Given the description of an element on the screen output the (x, y) to click on. 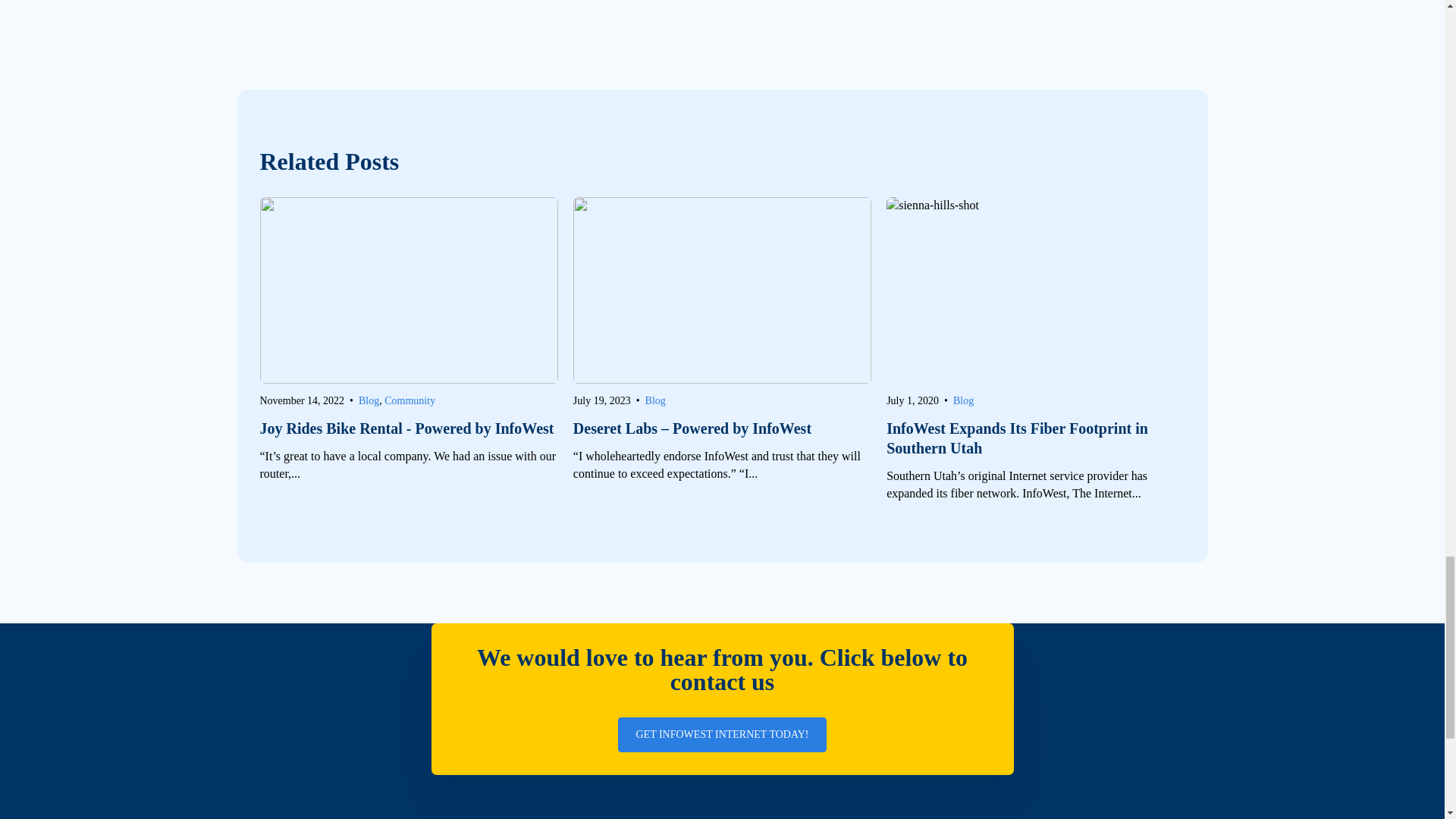
Joy Rides Bike Rental - Powered by InfoWest (408, 428)
Blog (368, 400)
Community (409, 400)
Blog (655, 400)
